Given the description of an element on the screen output the (x, y) to click on. 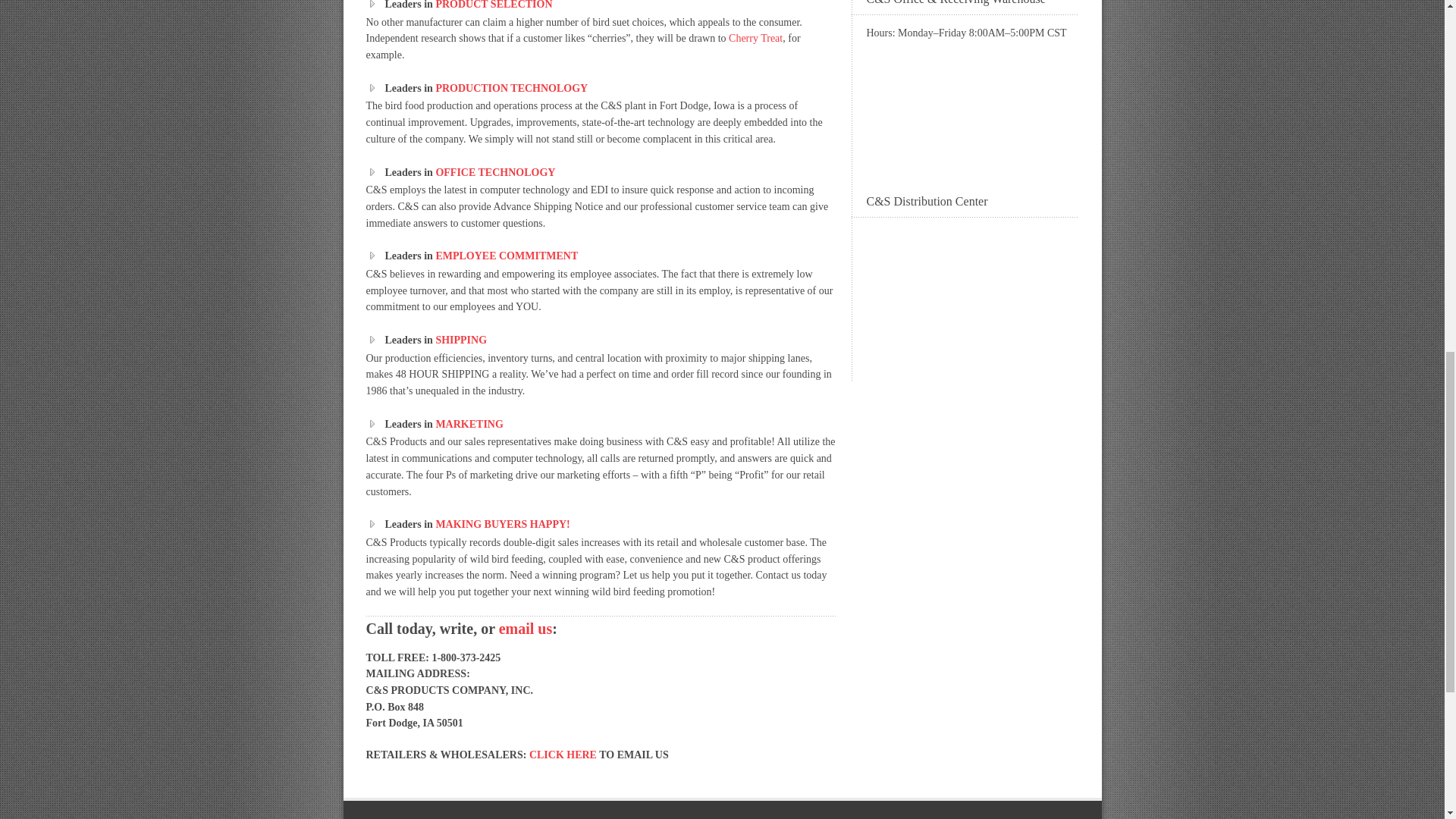
Cherry Treat (756, 38)
Cherry Treat (756, 38)
CLICK HERE (562, 754)
email us (526, 628)
